Given the description of an element on the screen output the (x, y) to click on. 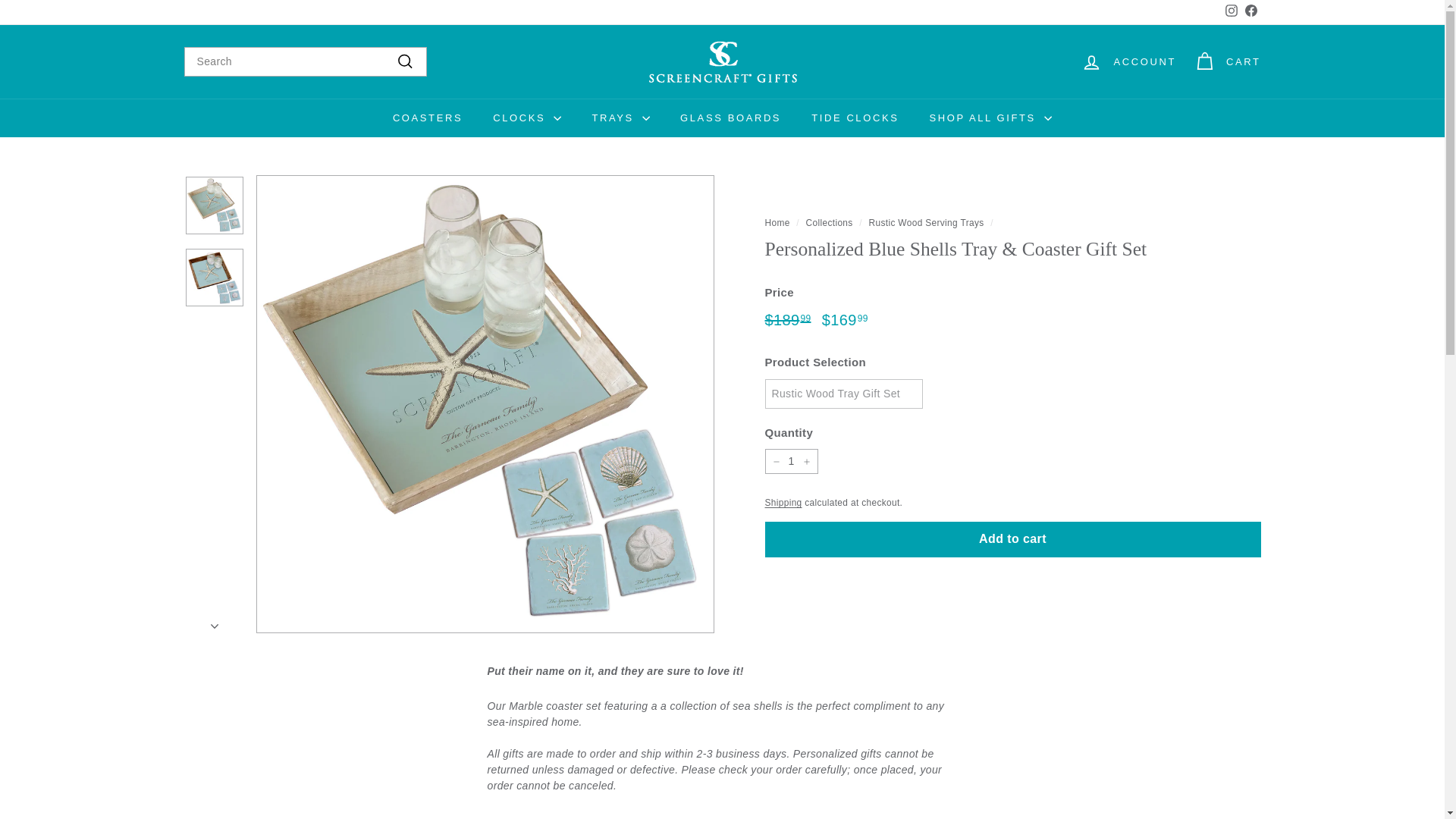
TIDE CLOCKS (855, 118)
Back to the frontpage (776, 222)
icon-chevron (214, 626)
instagram (1231, 10)
COASTERS (427, 118)
1 (790, 461)
Facebook (1230, 12)
CART (1250, 12)
ScreenCraftGifts on Facebook (1227, 61)
GLASS BOARDS (1250, 12)
ACCOUNT (730, 118)
ScreenCraftGifts on Instagram (1128, 61)
